Given the description of an element on the screen output the (x, y) to click on. 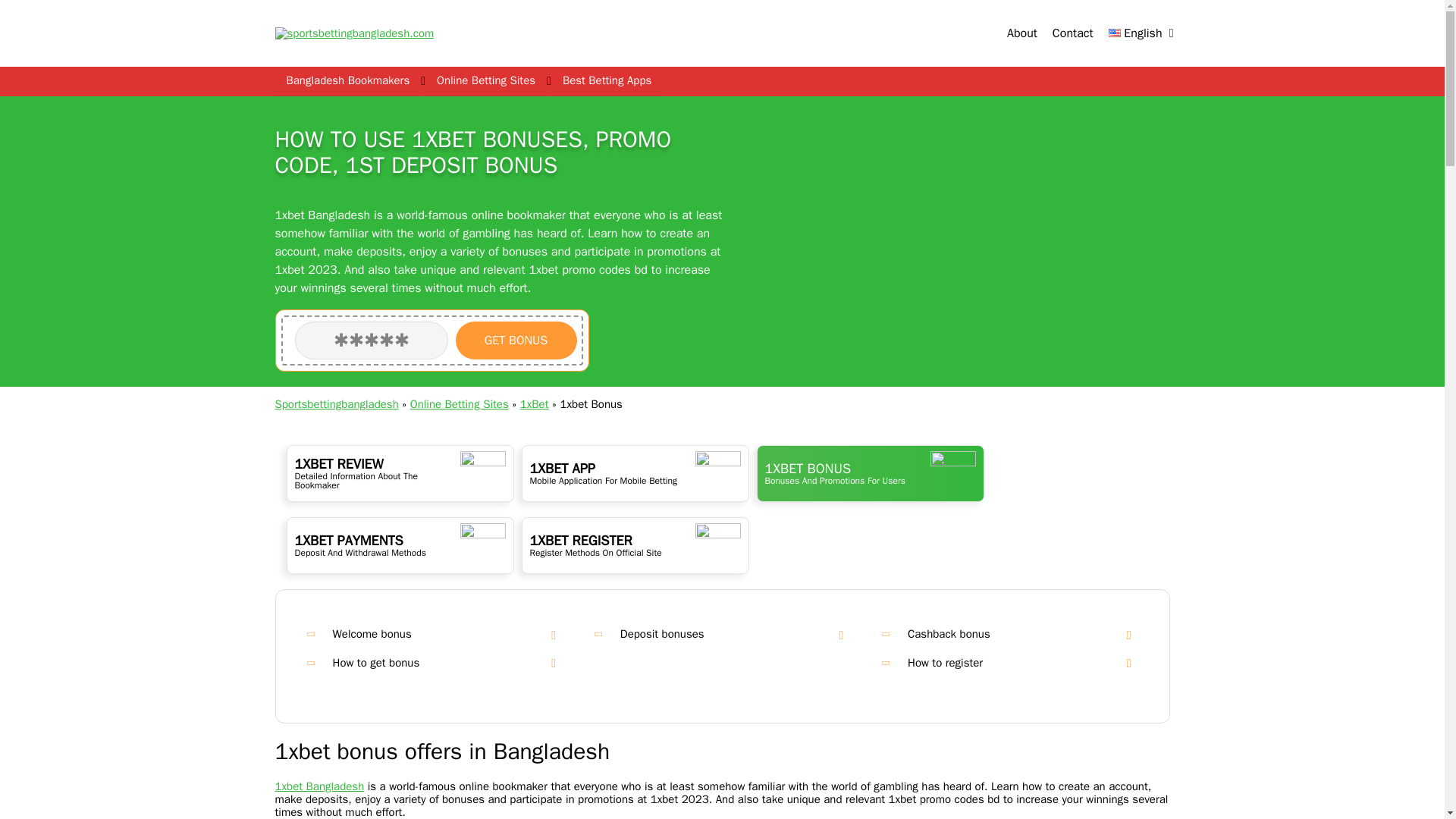
English (1134, 32)
Contact (1072, 32)
About (1021, 32)
Bangladesh Bookmakers (347, 80)
